Given the description of an element on the screen output the (x, y) to click on. 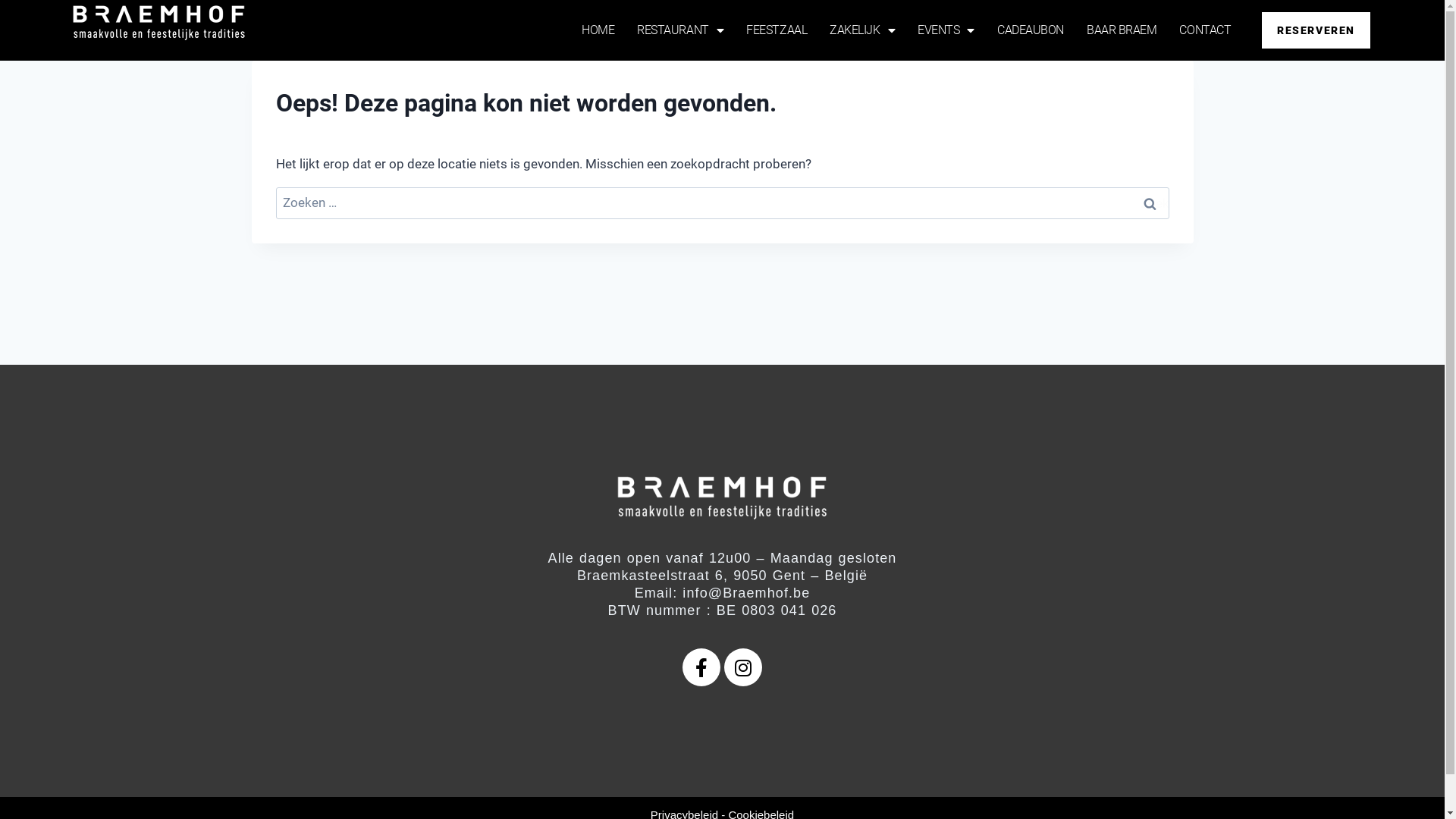
CADEAUBON Element type: text (1030, 30)
FEESTZAAL Element type: text (776, 30)
CONTACT Element type: text (1204, 30)
Logo-wit-Braemhof-XL Element type: hover (721, 497)
BAAR BRAEM Element type: text (1121, 30)
ZAKELIJK Element type: text (861, 30)
HOME Element type: text (597, 30)
EVENTS Element type: text (945, 30)
RESTAURANT Element type: text (680, 30)
Zoeken Element type: text (1150, 203)
RESERVEREN Element type: text (1315, 30)
